Given the description of an element on the screen output the (x, y) to click on. 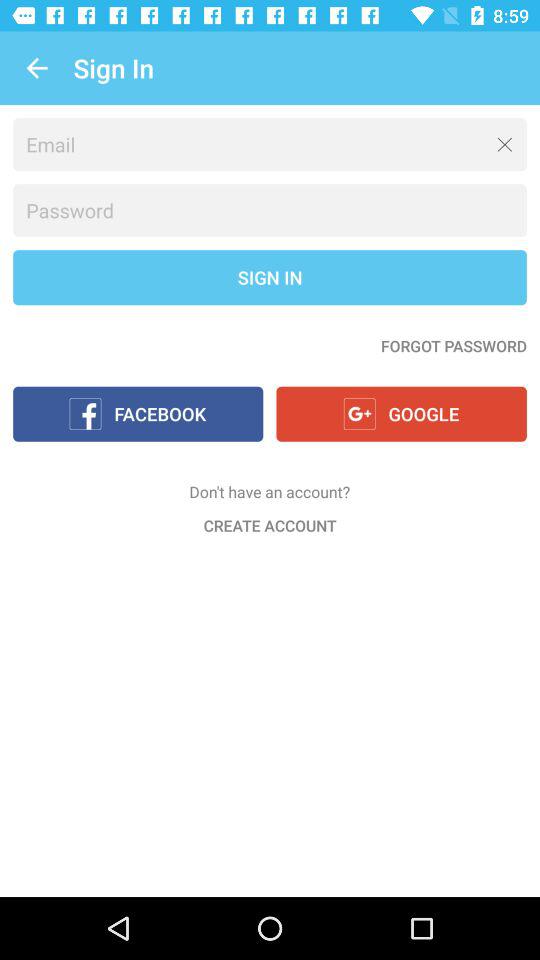
email box (269, 144)
